Given the description of an element on the screen output the (x, y) to click on. 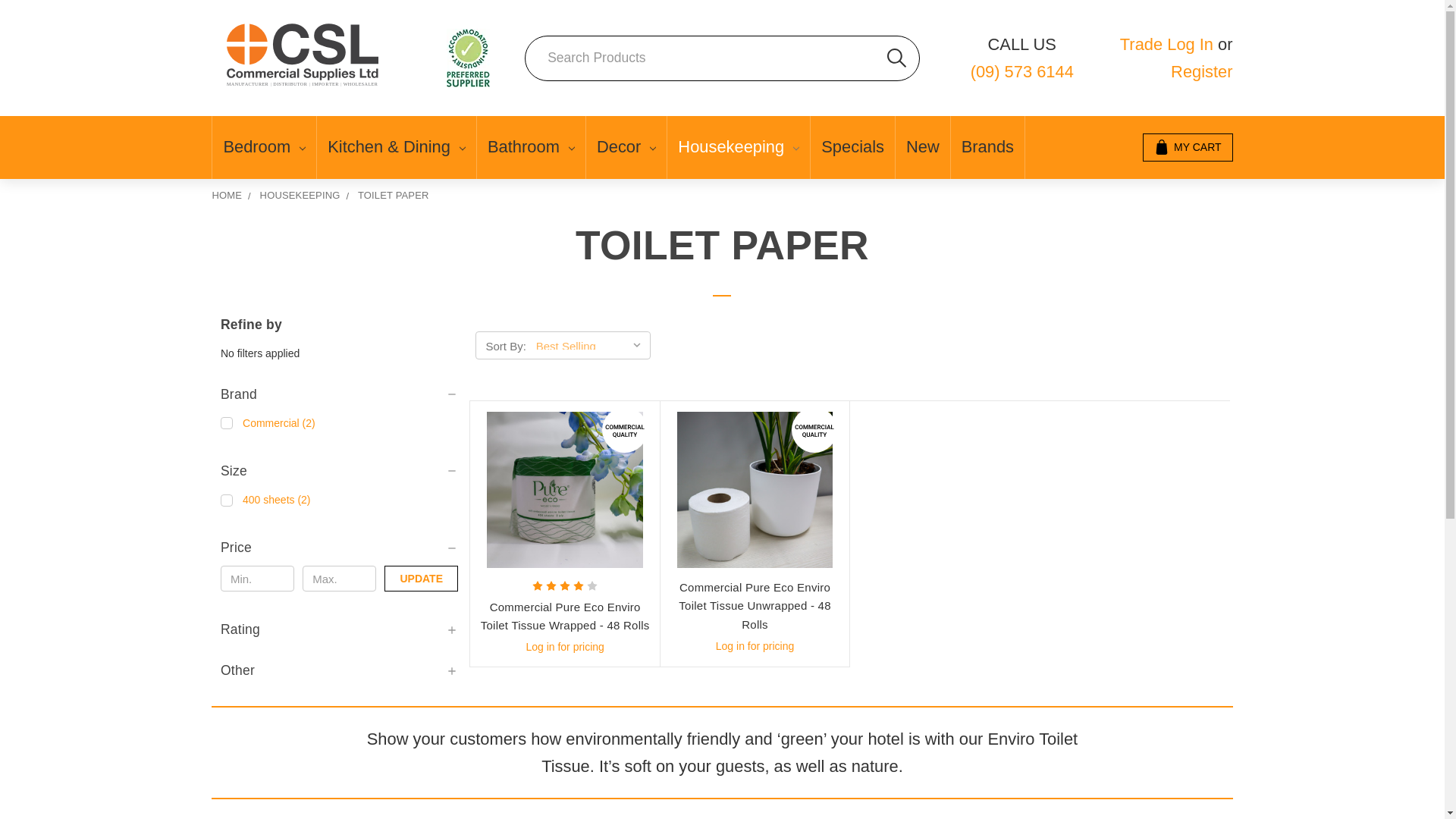
Register (1200, 71)
Trade Log In (1165, 44)
Commercial Supplies (467, 57)
Commercial Pure Eco Enviro Toilet Tissue Wrapped - 48 Rolls (564, 489)
Bedroom (263, 147)
